Given the description of an element on the screen output the (x, y) to click on. 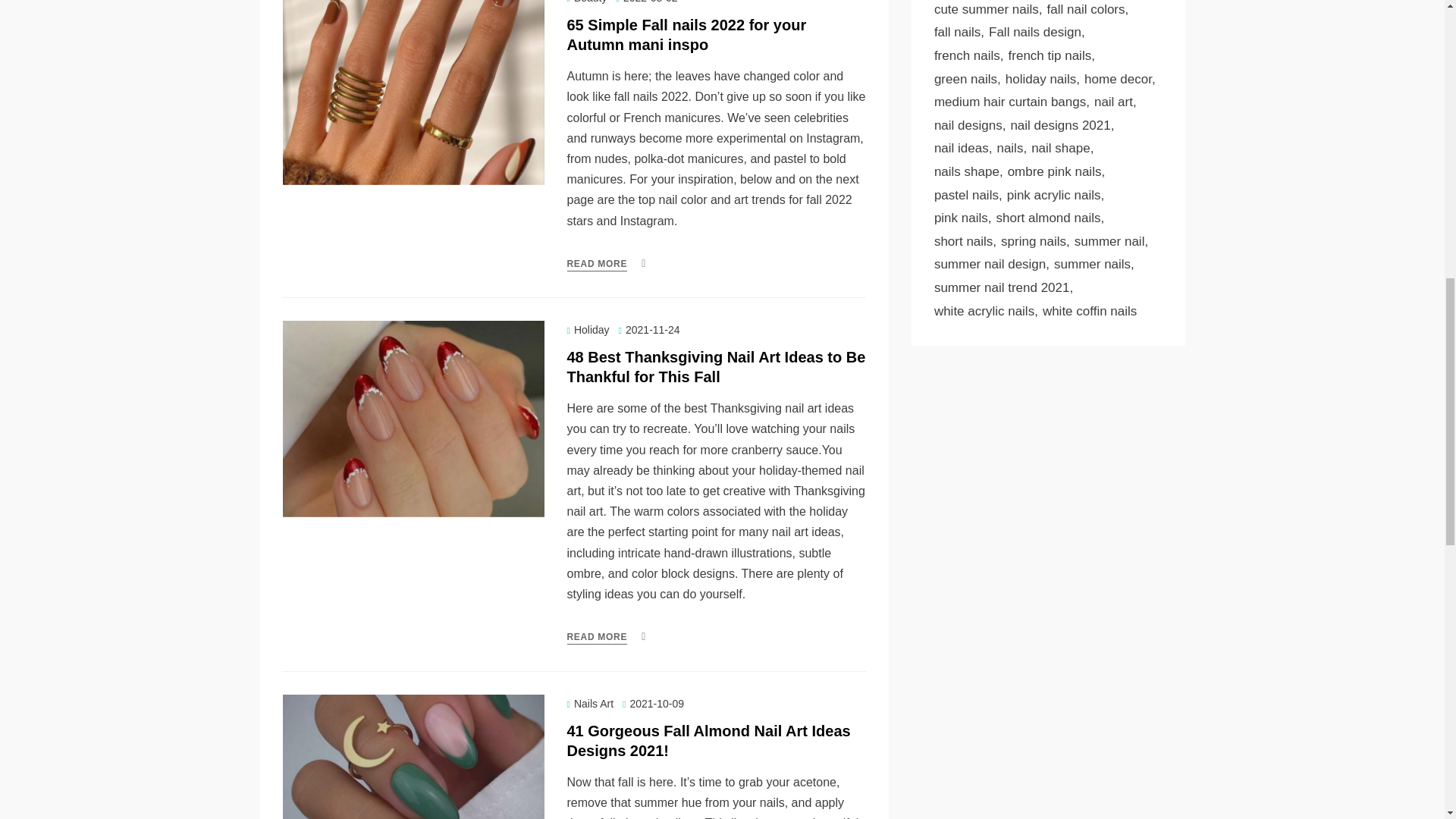
2021-10-09 (653, 703)
READ MORE (597, 636)
Beauty (587, 2)
Nails Art (590, 703)
Holiday (588, 329)
Holiday (588, 329)
41 Gorgeous Fall Almond Nail Art Ideas Designs 2021! (708, 740)
65 Simple Fall nails 2022 for your Autumn mani inspo (686, 34)
Beauty (587, 2)
